Given the description of an element on the screen output the (x, y) to click on. 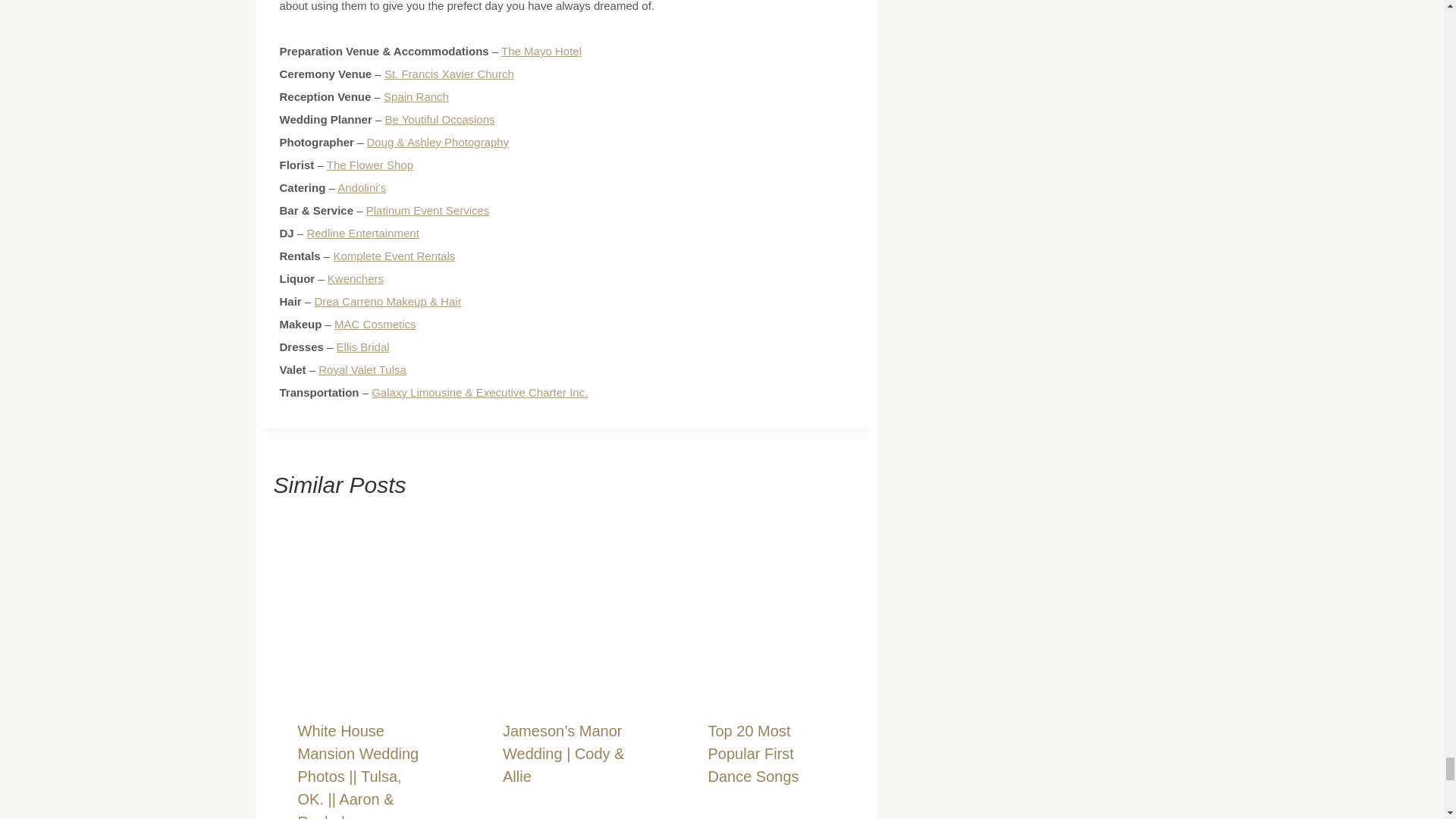
St. Francis Xavier Church (448, 73)
Komplete Event Rentals (393, 255)
The Flower Shop (369, 164)
Platinum Event Services (427, 210)
Be Youtiful Occasions (439, 119)
Redline Entertainment (362, 232)
The Mayo Hotel (540, 51)
Spain Ranch (416, 96)
Kwenchers (355, 278)
